Given the description of an element on the screen output the (x, y) to click on. 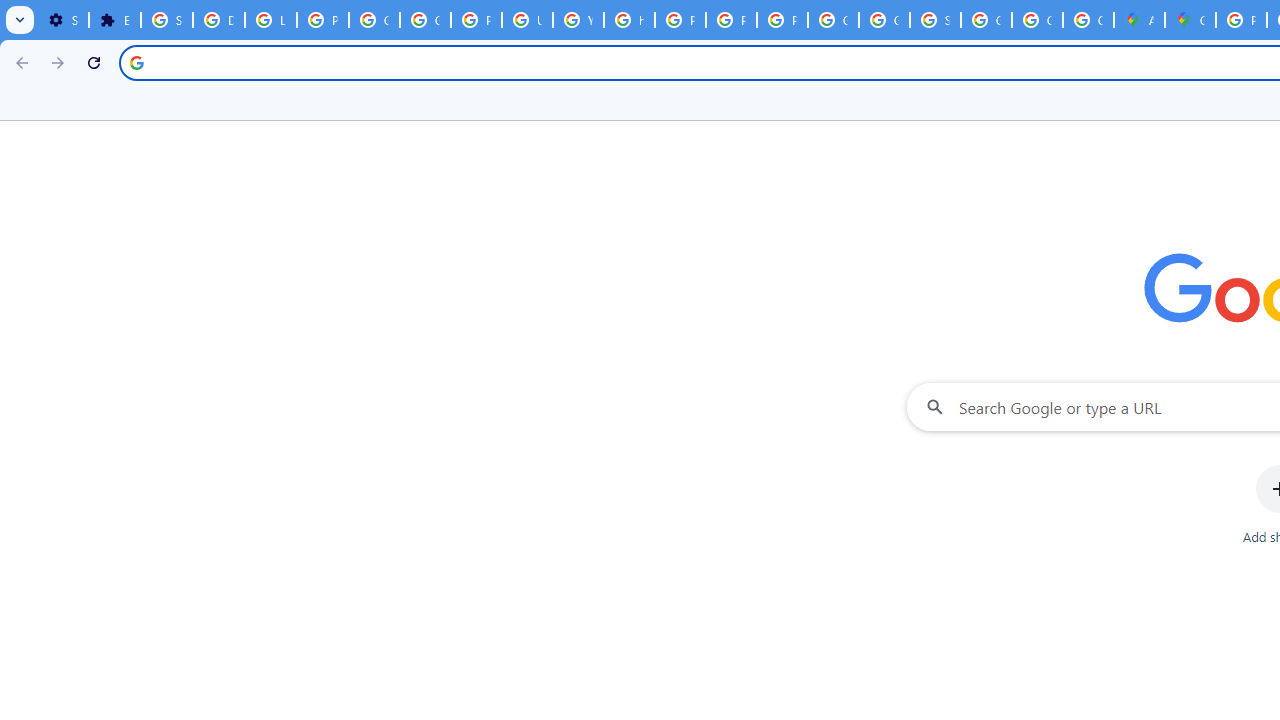
Privacy Help Center - Policies Help (680, 20)
Extensions (114, 20)
Sign in - Google Accounts (935, 20)
Search icon (136, 62)
Google Account Help (374, 20)
Sign in - Google Accounts (166, 20)
Google Account Help (424, 20)
Create your Google Account (1087, 20)
Policy Accountability and Transparency - Transparency Center (1241, 20)
